Given the description of an element on the screen output the (x, y) to click on. 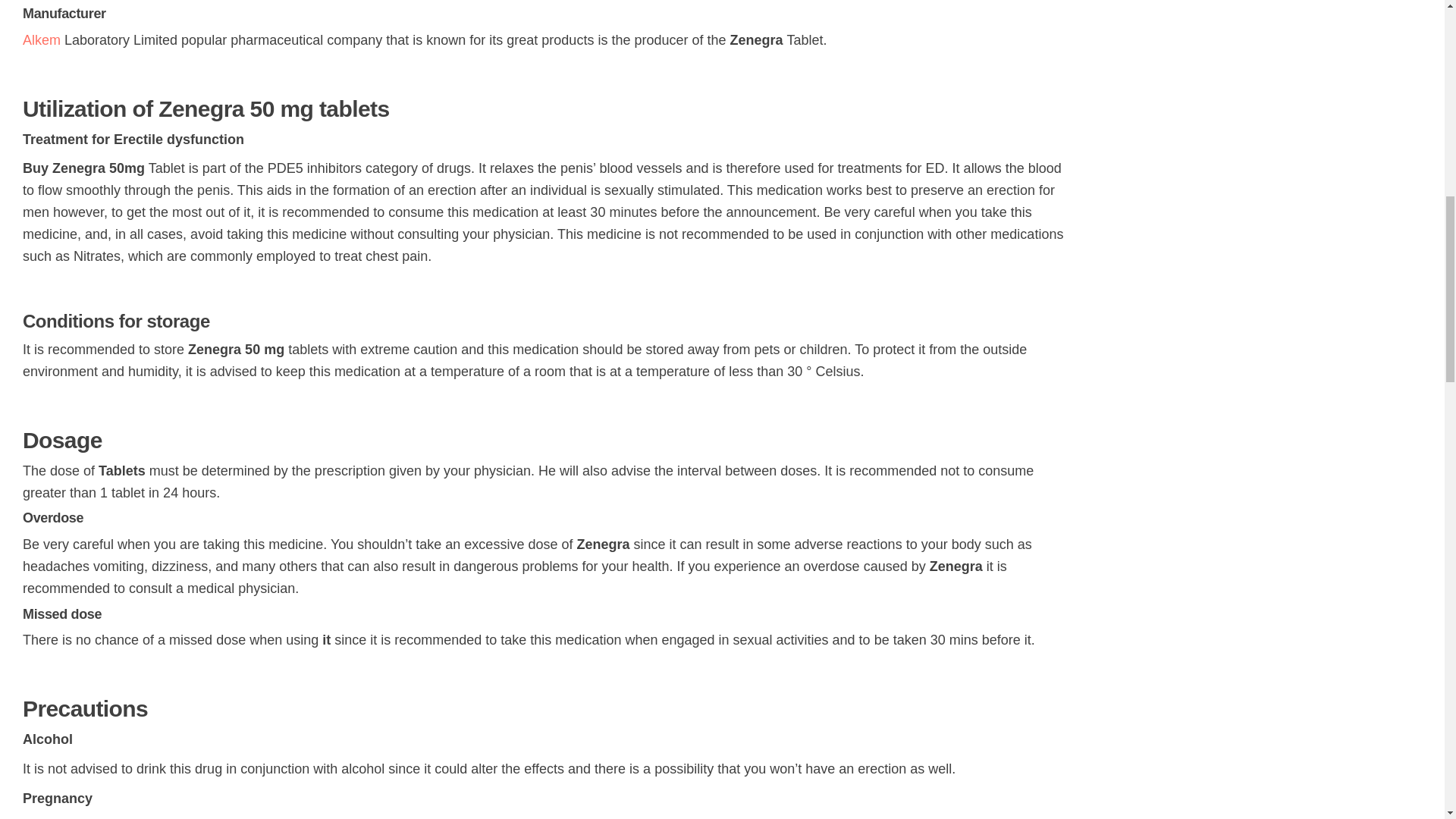
Alkem (43, 39)
